Given the description of an element on the screen output the (x, y) to click on. 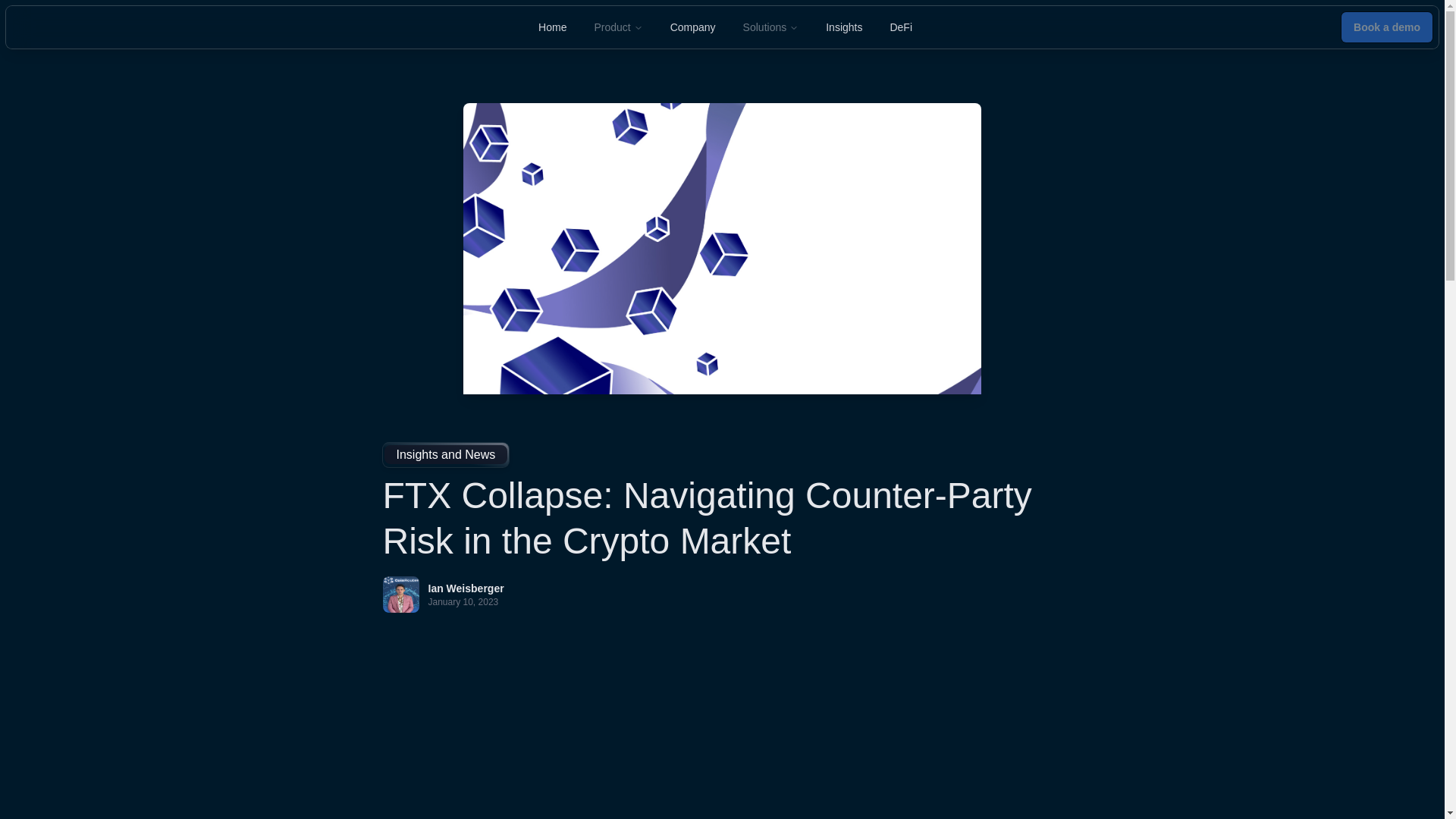
Home (551, 27)
Solutions (770, 27)
Company (693, 27)
CoinRoutes (96, 27)
Product (616, 27)
DeFi (900, 27)
Book a demo (1386, 27)
Insights (844, 27)
YouTube Video (721, 737)
